Given the description of an element on the screen output the (x, y) to click on. 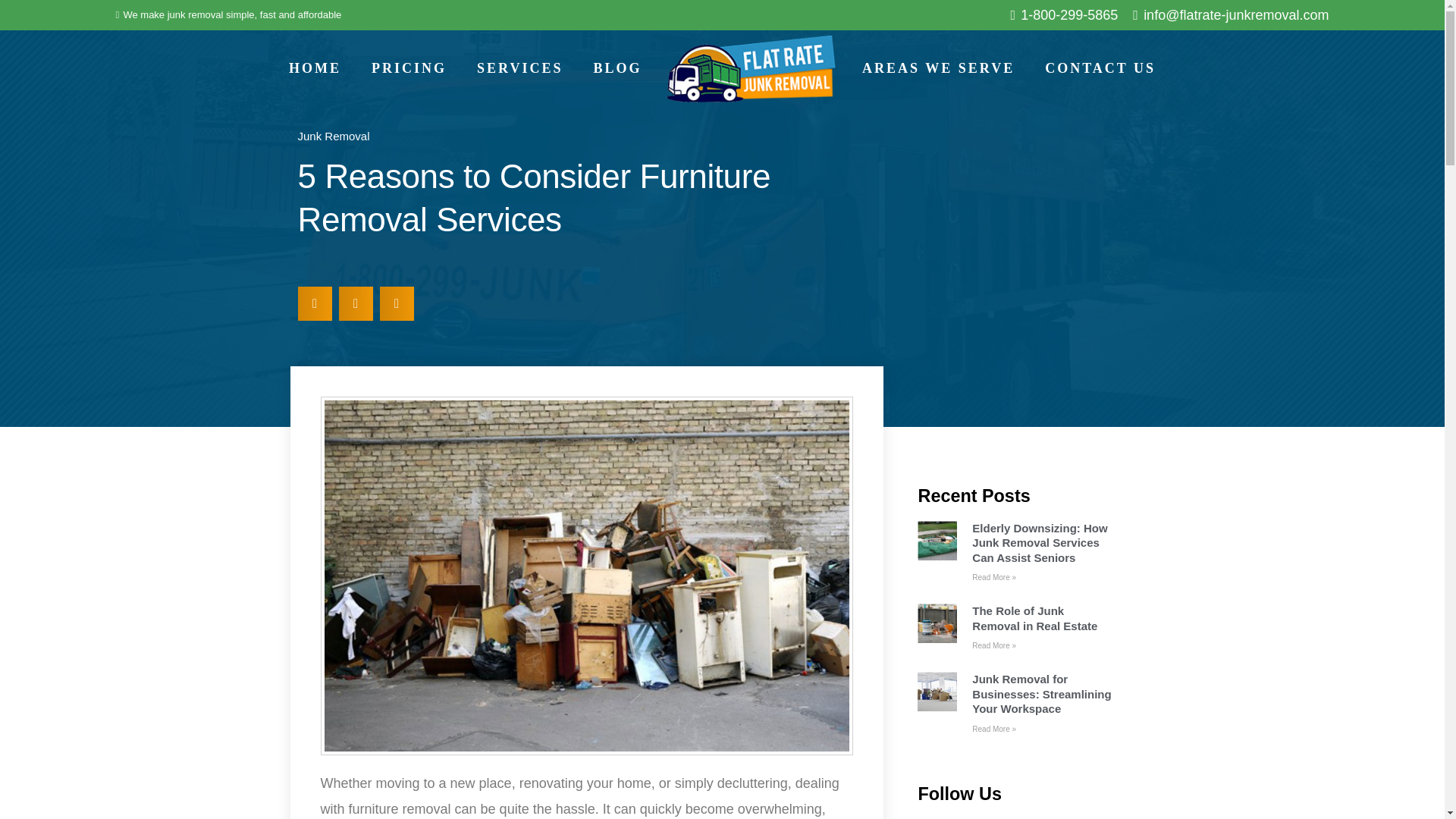
Junk Removal (333, 135)
HOME (314, 68)
CONTACT US (1099, 68)
PRICING (408, 68)
BLOG (617, 68)
AREAS WE SERVE (938, 68)
SERVICES (519, 68)
1-800-299-5865 (1064, 14)
